Given the description of an element on the screen output the (x, y) to click on. 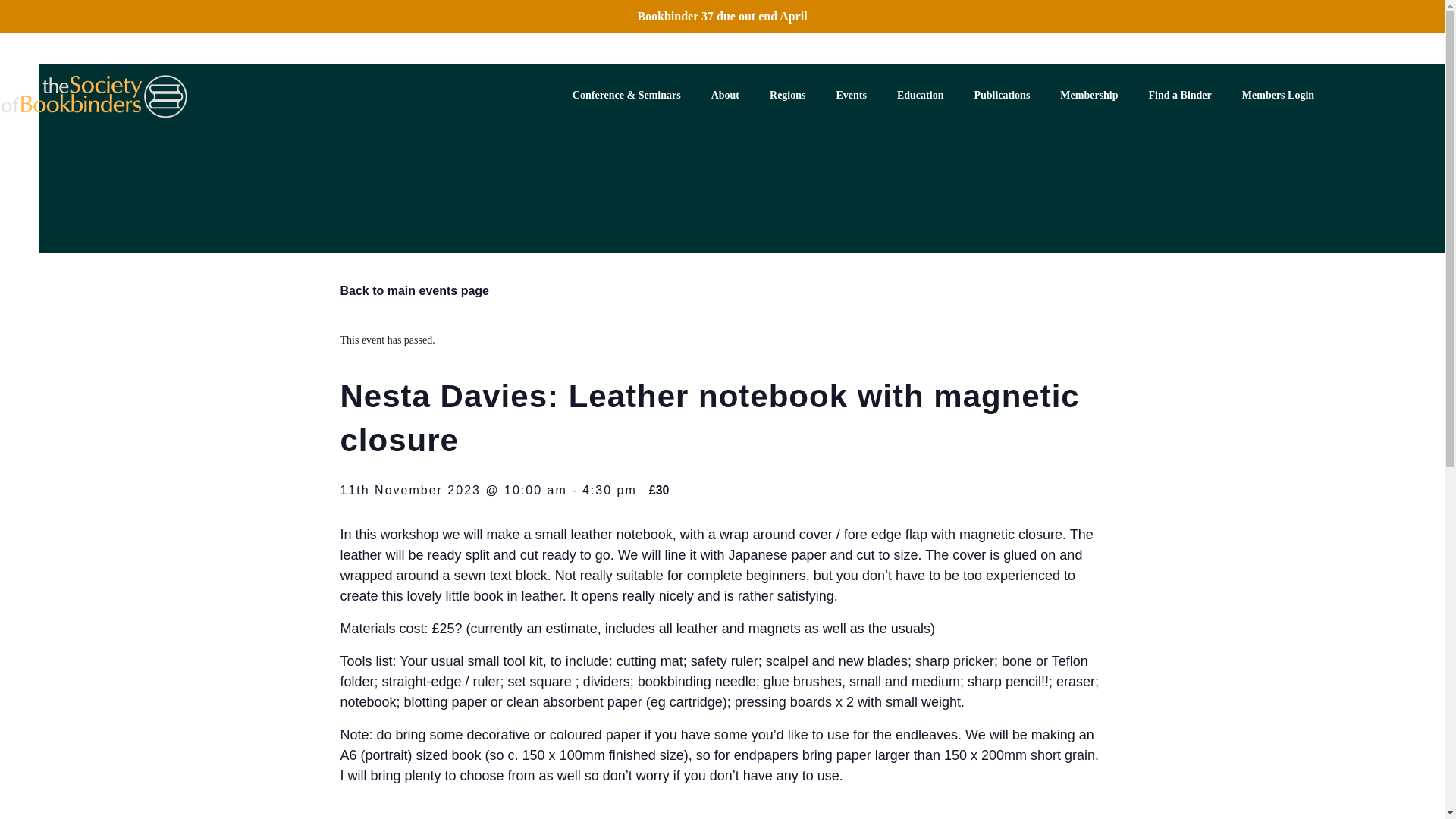
Regions (787, 95)
Publications (1001, 95)
Find a Binder (1180, 95)
Education (920, 95)
Events (850, 95)
About (724, 95)
Back to main events page (414, 290)
Membership (1088, 95)
Members Login (1278, 95)
